Given the description of an element on the screen output the (x, y) to click on. 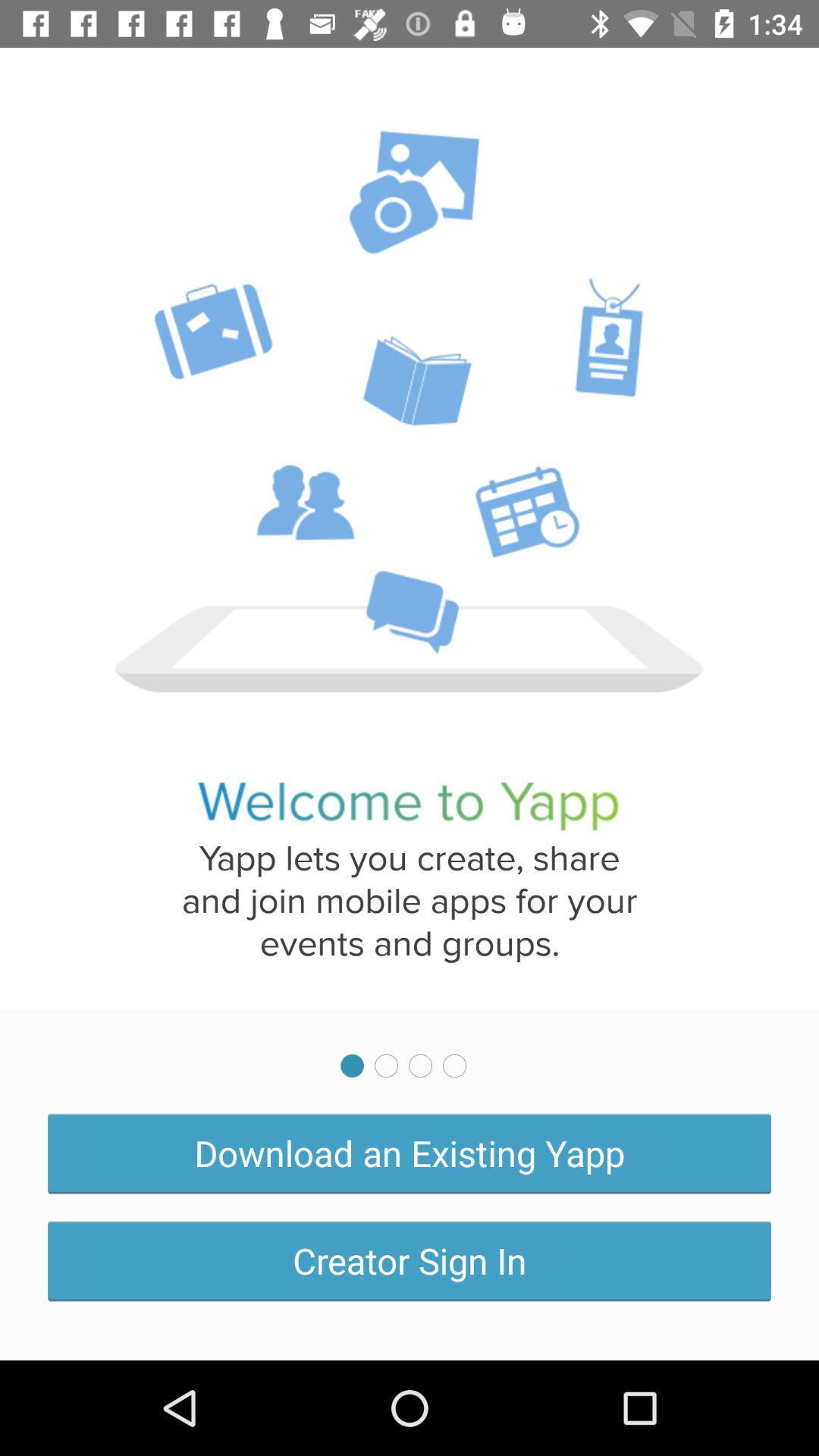
turn off the item above the creator sign in button (409, 1153)
